Given the description of an element on the screen output the (x, y) to click on. 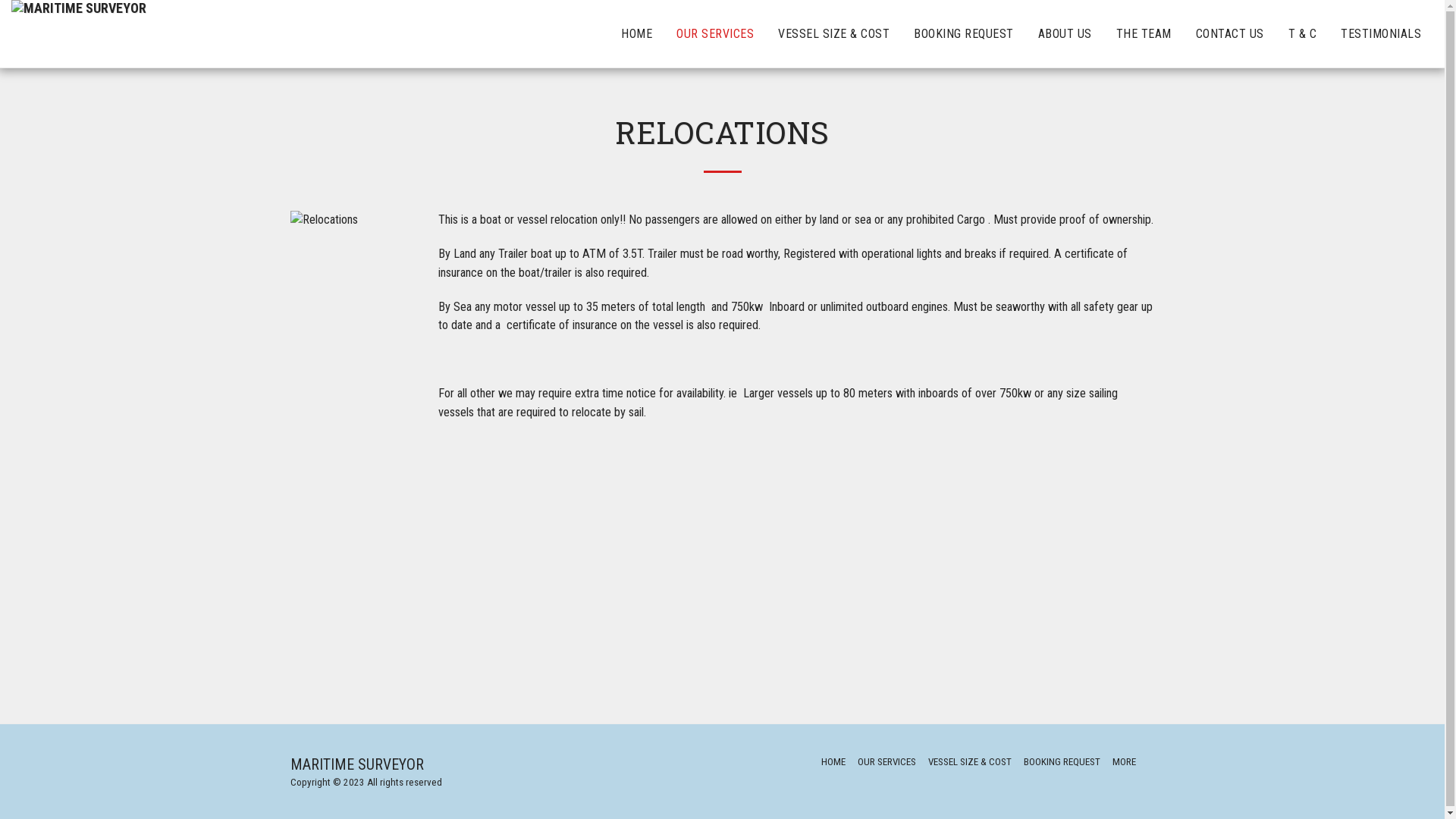
BOOKING REQUEST Element type: text (963, 33)
HOME Element type: text (833, 761)
VESSEL SIZE & COST Element type: text (833, 33)
TESTIMONIALS Element type: text (1380, 33)
BOOKING REQUEST Element type: text (1061, 761)
ABOUT US Element type: text (1064, 33)
VESSEL SIZE & COST Element type: text (969, 761)
THE TEAM Element type: text (1143, 33)
CONTACT US Element type: text (1229, 33)
OUR SERVICES Element type: text (715, 33)
MORE   Element type: text (1130, 761)
T & C Element type: text (1302, 33)
OUR SERVICES Element type: text (886, 761)
HOME Element type: text (636, 33)
